Given the description of an element on the screen output the (x, y) to click on. 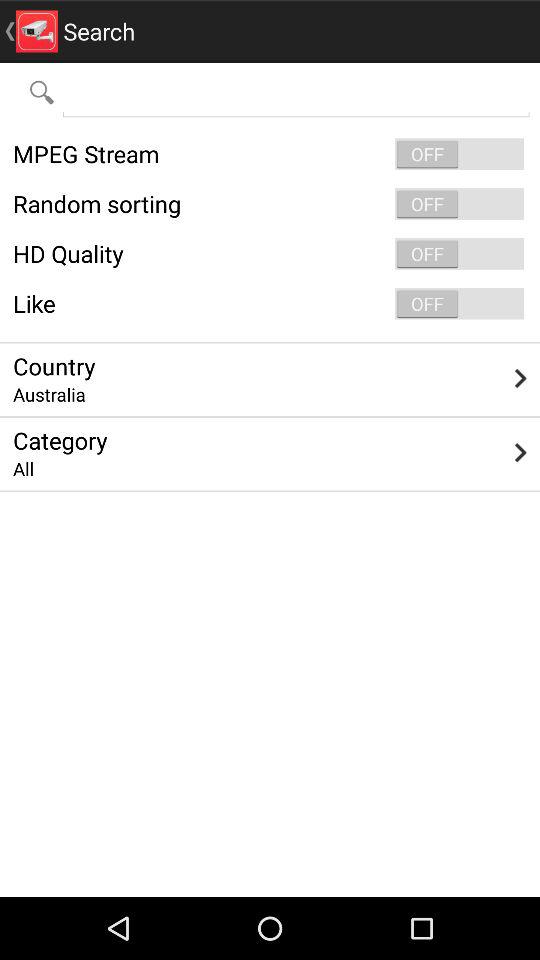
swipe until hd quality item (269, 253)
